Given the description of an element on the screen output the (x, y) to click on. 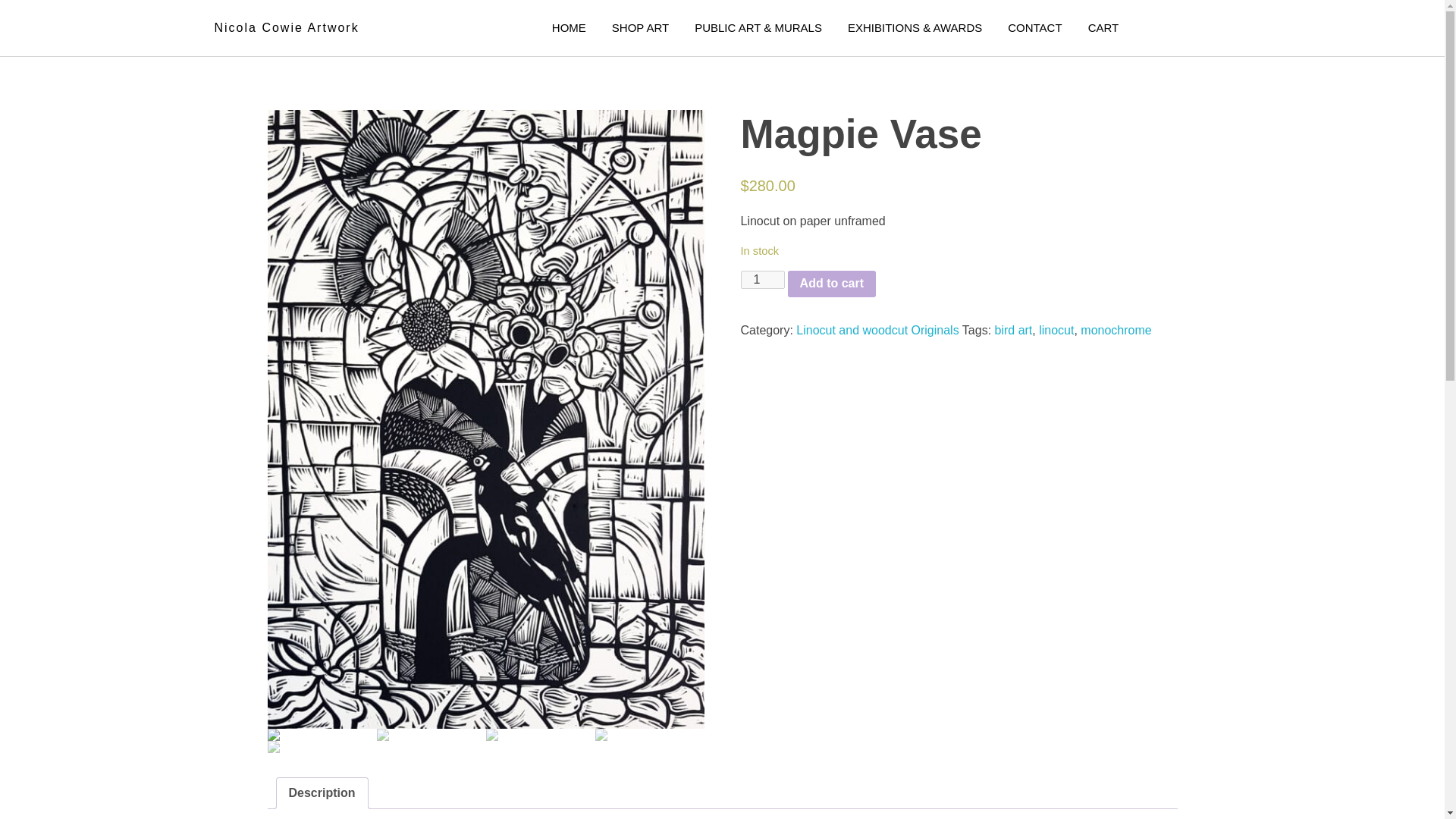
HOME (569, 27)
Linocut and woodcut Originals (877, 329)
1 (761, 280)
SHOP ART (640, 27)
monochrome (1115, 329)
linocut (1056, 329)
bird art (1013, 329)
Add to cart (831, 284)
CART (1103, 27)
Description (321, 793)
CONTACT (1034, 27)
